Given the description of an element on the screen output the (x, y) to click on. 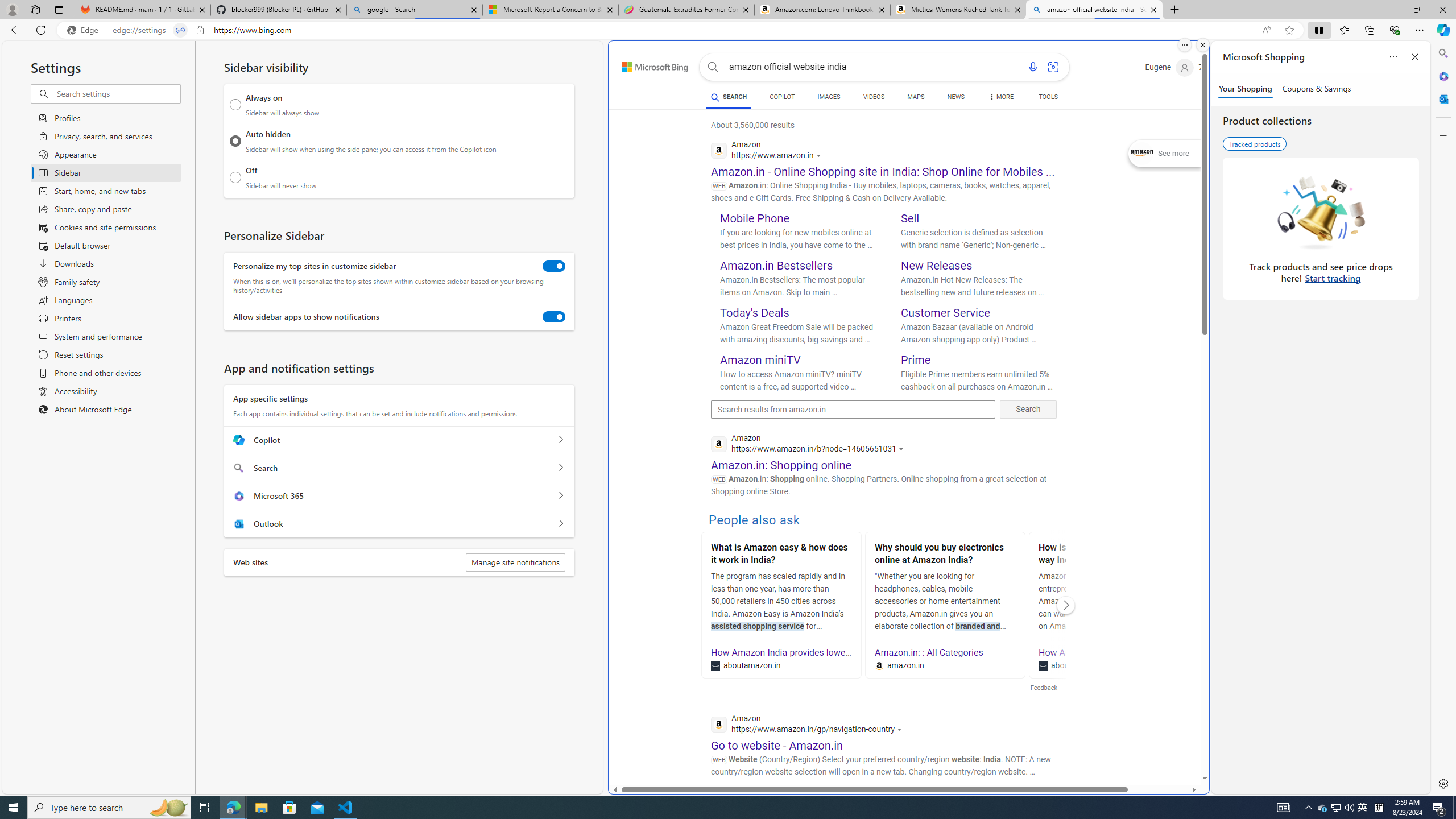
Go to website - Amazon.in (776, 745)
What is Amazon easy & how does it work in India? (780, 555)
Expand See more (1164, 153)
MAPS (915, 98)
Search more (1179, 744)
google - Search (414, 9)
Actions for this site (900, 729)
Amazon.in: : All Categories (928, 652)
Edge (84, 29)
